Given the description of an element on the screen output the (x, y) to click on. 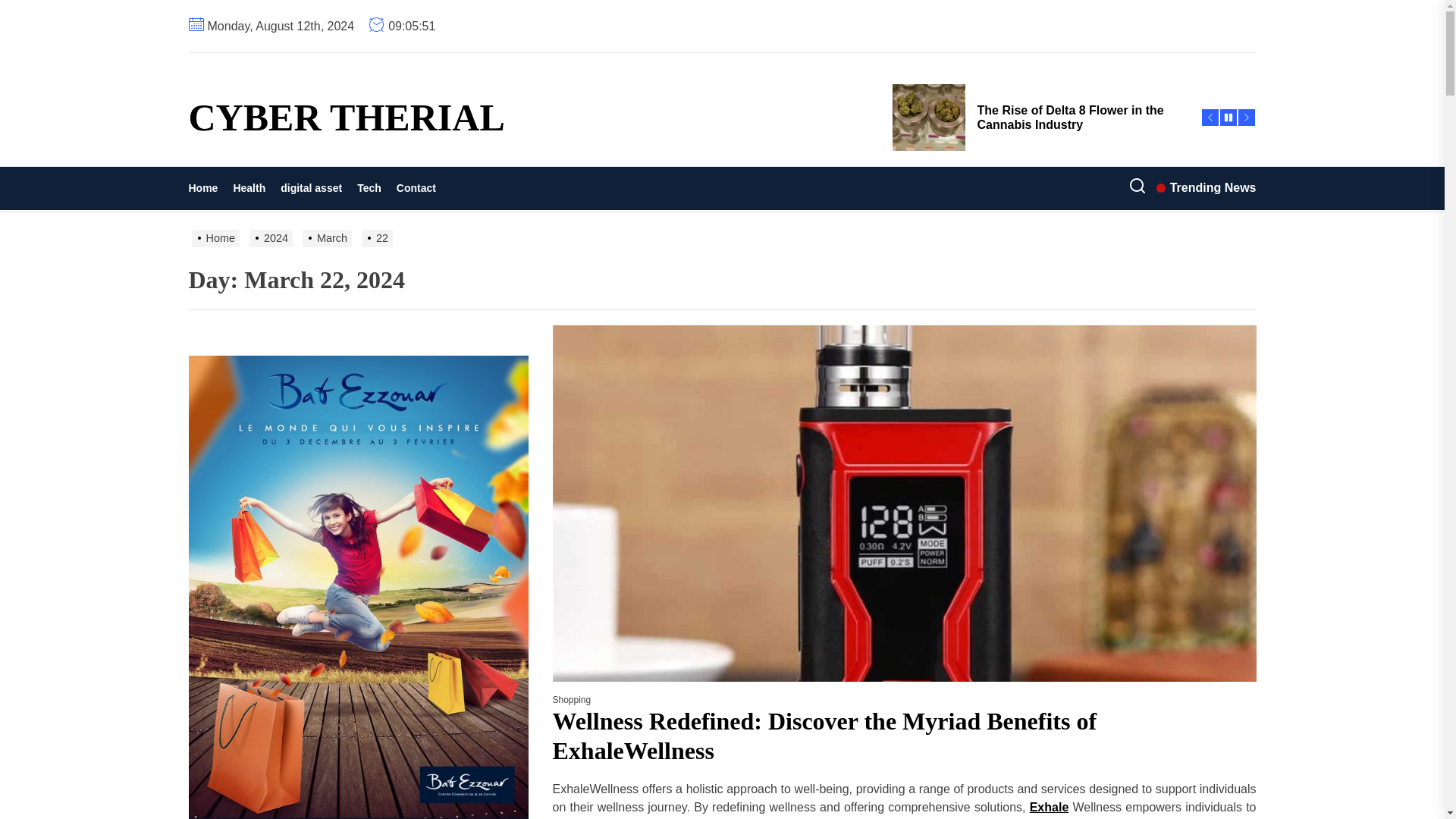
digital asset (311, 188)
The Rise of Delta 8 Flower in the Cannabis Industry (1036, 117)
Contact (416, 188)
Tech (368, 188)
Health (249, 188)
Top Benefits of Using DTF Heat Transfers for Custom Designs (1036, 49)
CYBER THERIAL (345, 117)
The Rise of Delta 8 Flower in the Cannabis Industry (1036, 117)
Trending News (1206, 188)
